Given the description of an element on the screen output the (x, y) to click on. 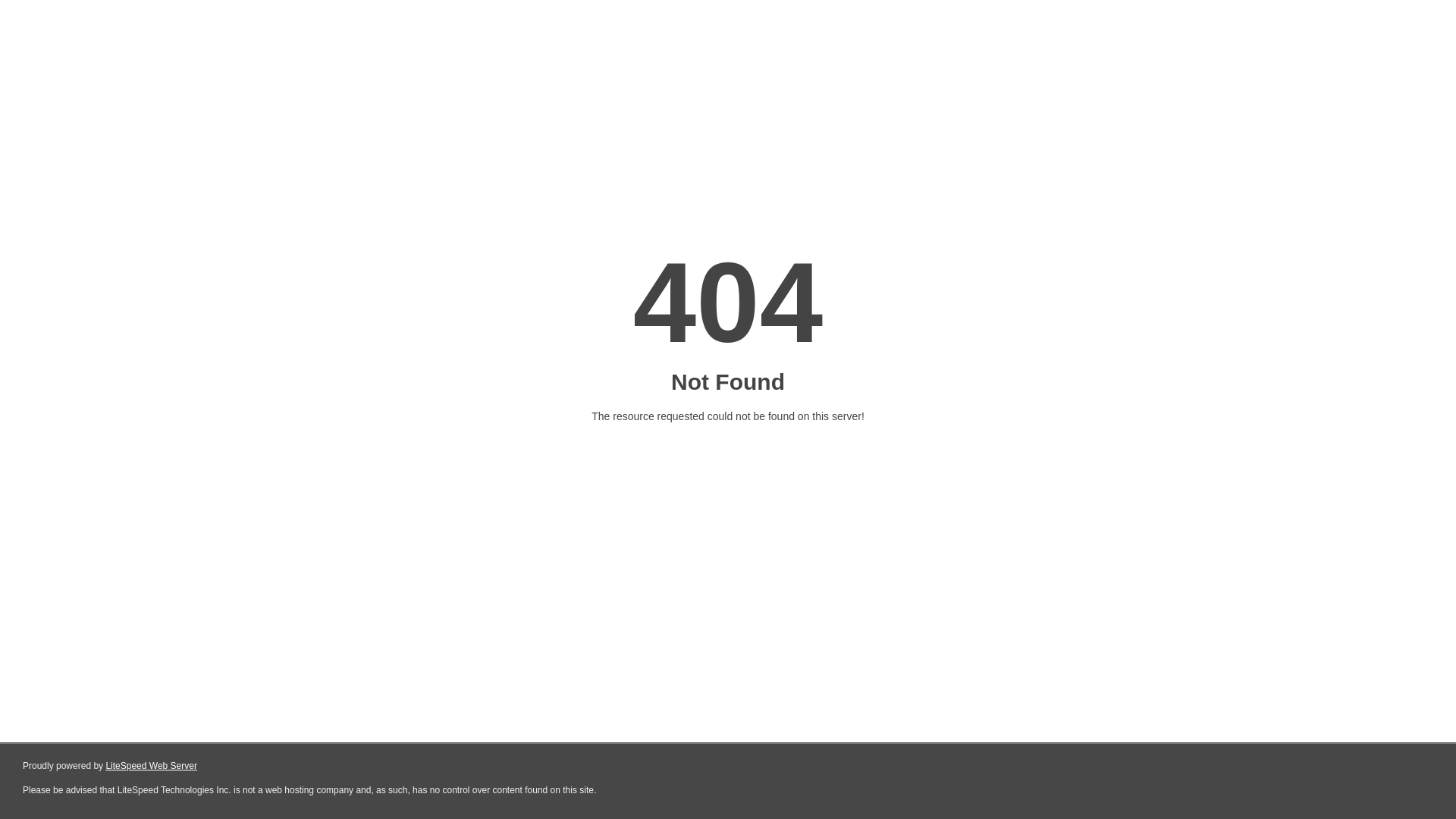
LiteSpeed Web Server (150, 765)
